Given the description of an element on the screen output the (x, y) to click on. 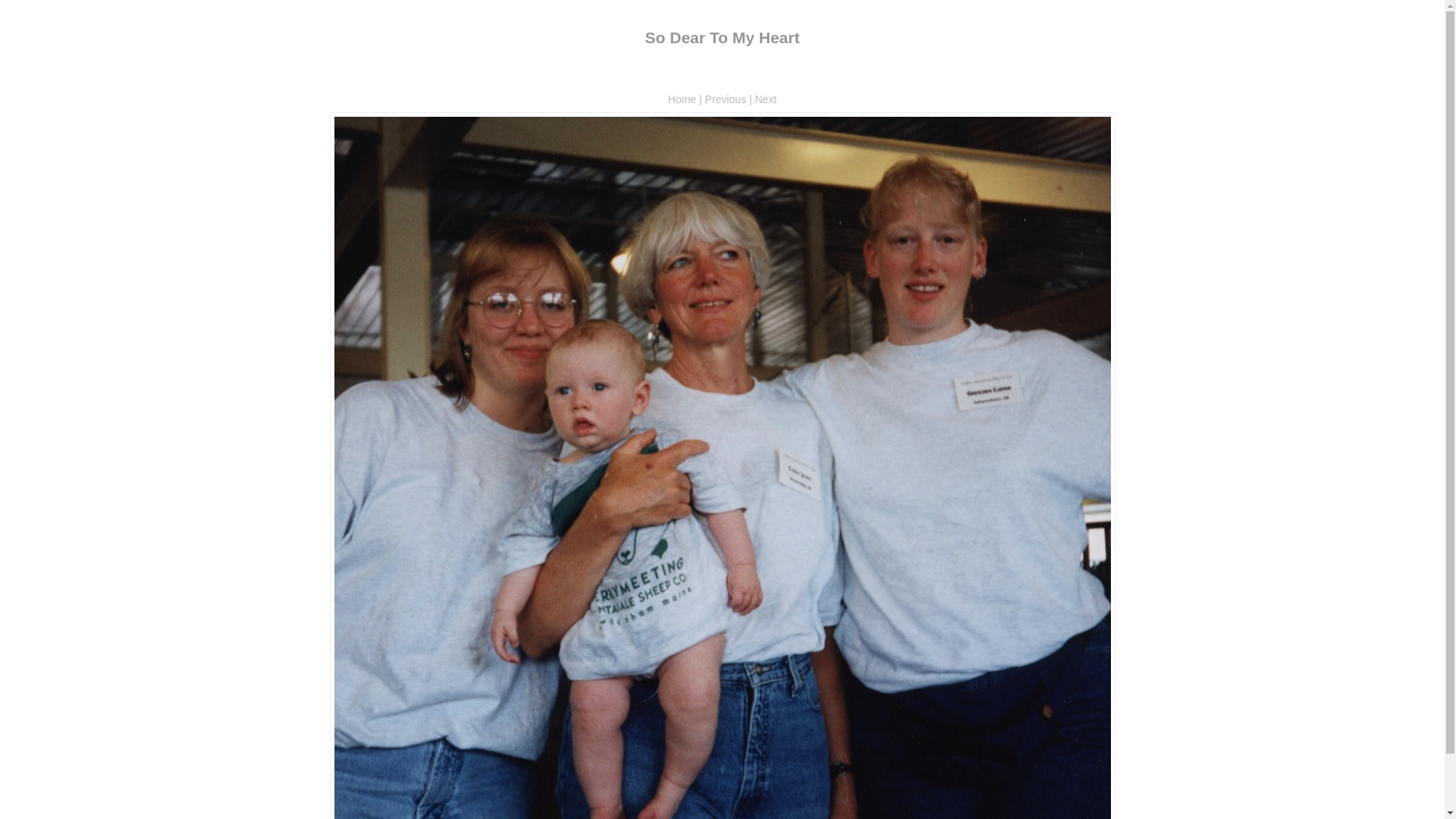
Home Element type: text (682, 99)
Next Element type: text (765, 99)
Previous Element type: text (725, 99)
